Given the description of an element on the screen output the (x, y) to click on. 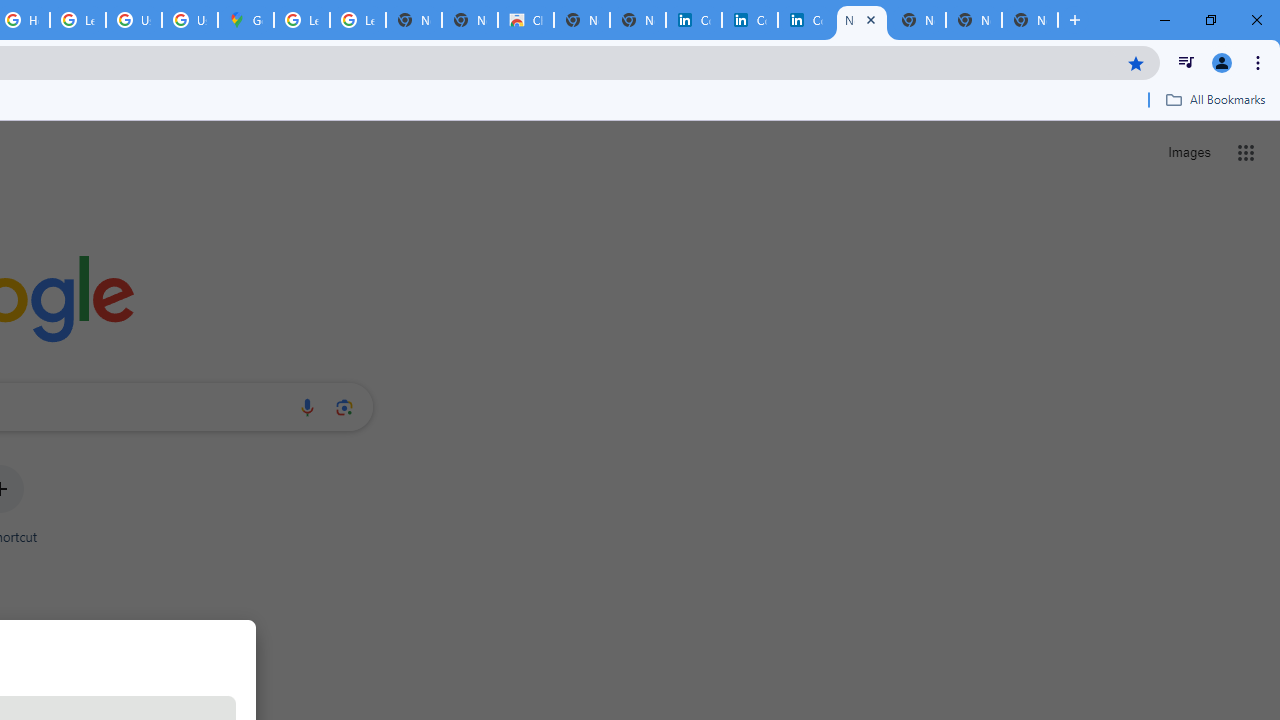
Copyright Policy (806, 20)
Google Maps (245, 20)
Cookie Policy | LinkedIn (749, 20)
Cookie Policy | LinkedIn (693, 20)
New Tab (1030, 20)
